Given the description of an element on the screen output the (x, y) to click on. 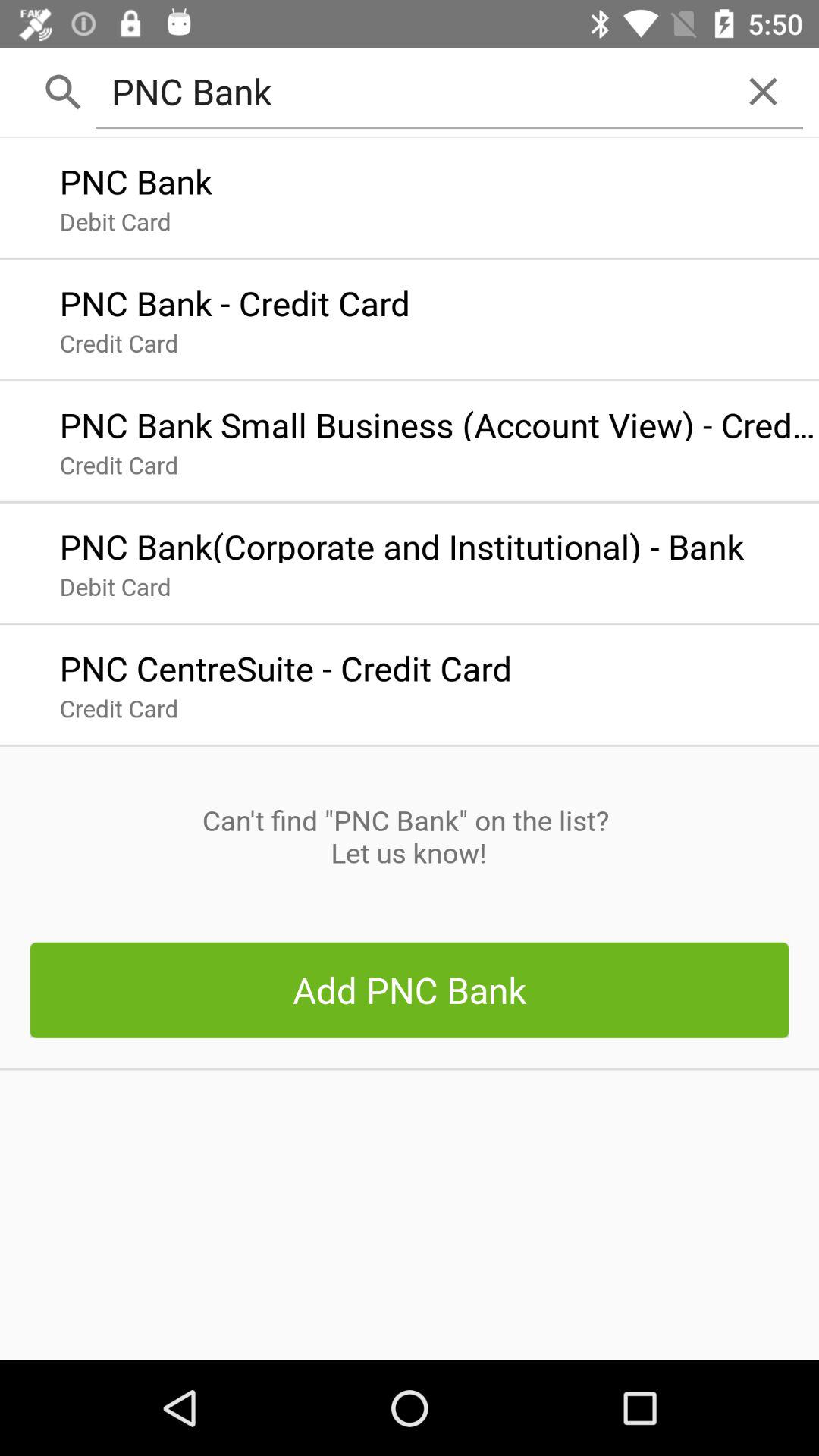
tap button above add pnc bank (408, 836)
